Given the description of an element on the screen output the (x, y) to click on. 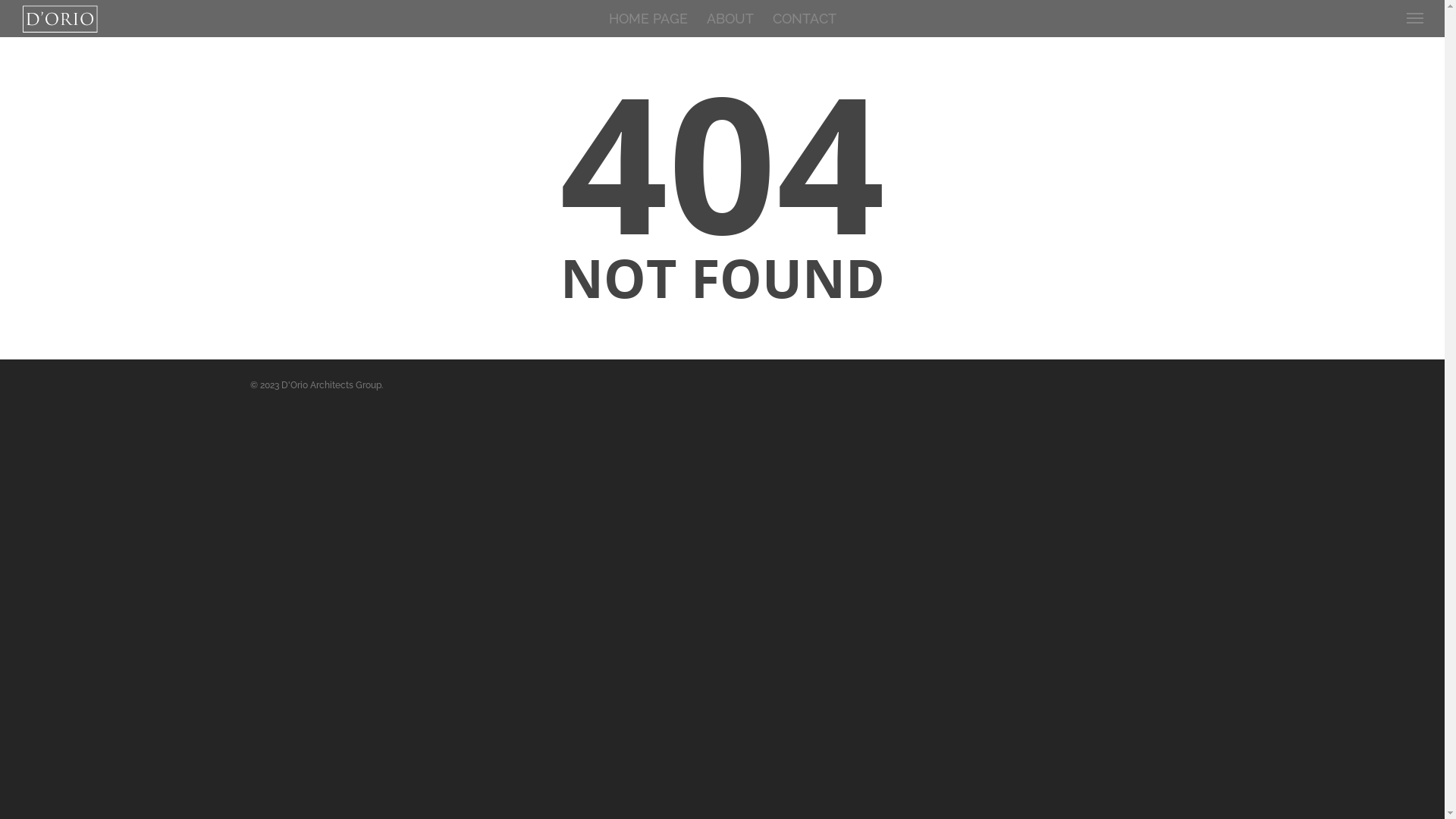
ABOUT Element type: text (729, 20)
CONTACT Element type: text (803, 20)
HOME PAGE Element type: text (647, 20)
